Given the description of an element on the screen output the (x, y) to click on. 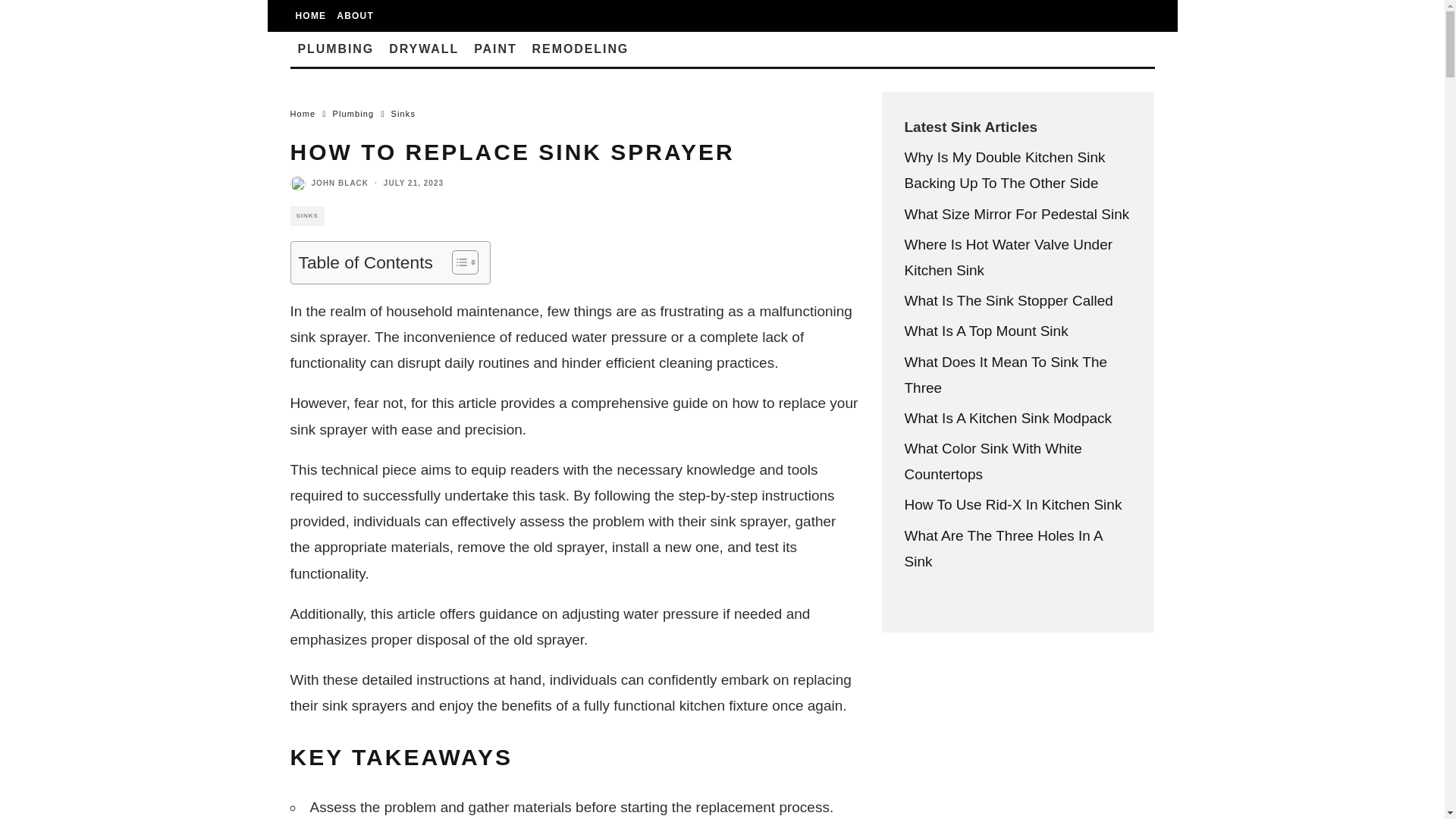
HOME (310, 15)
PAINT (494, 48)
REMODELING (580, 48)
DRYWALL (423, 48)
Sinks (402, 112)
SINKS (306, 216)
Plumbing (353, 112)
JOHN BLACK (339, 183)
Home (302, 112)
ABOUT (354, 15)
PLUMBING (335, 48)
